Given the description of an element on the screen output the (x, y) to click on. 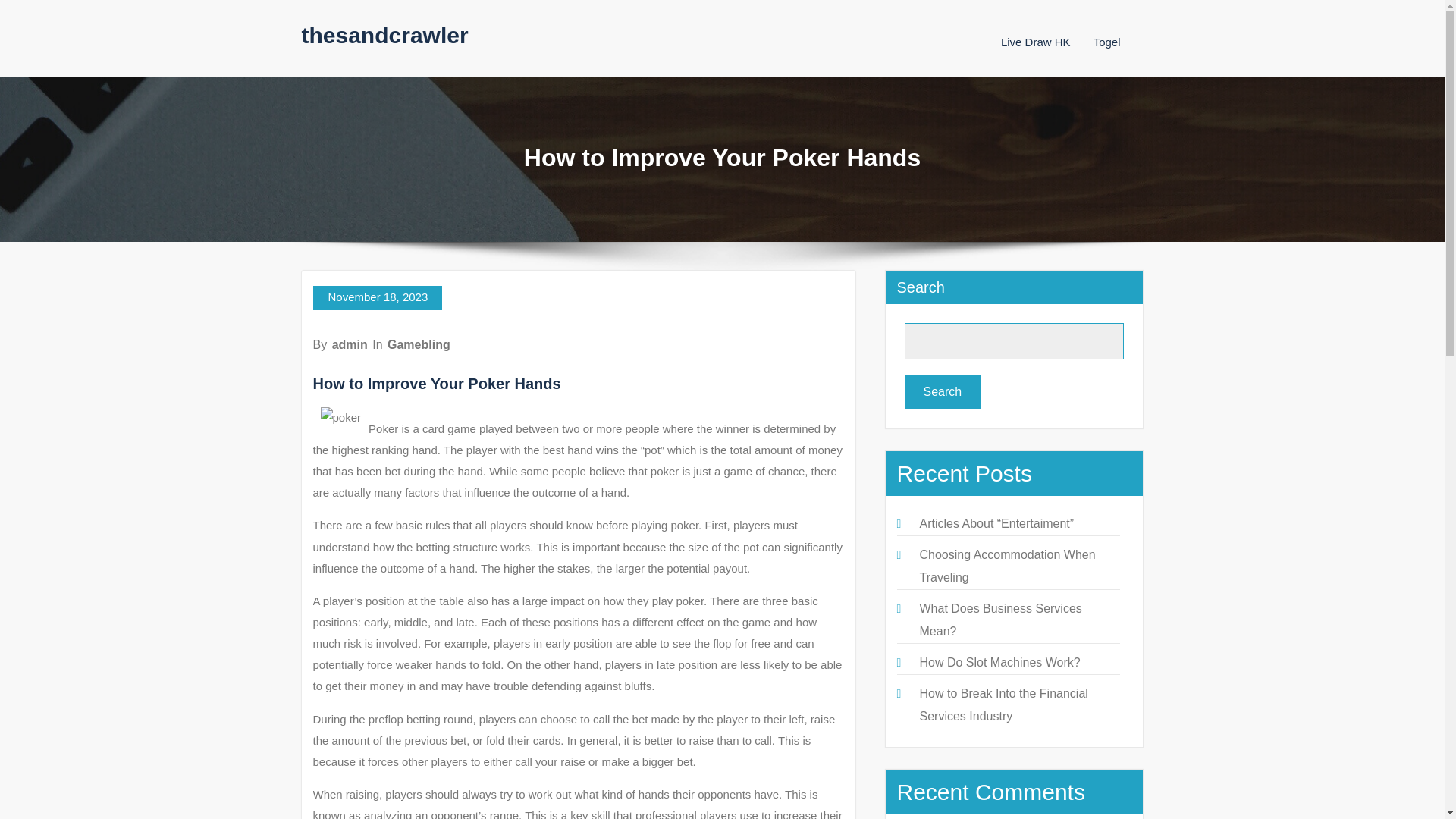
Search (941, 391)
Gamebling (418, 344)
How to Break Into the Financial Services Industry (1002, 704)
Live Draw HK (1035, 41)
What Does Business Services Mean? (999, 619)
Choosing Accommodation When Traveling (1006, 565)
November 18, 2023 (377, 297)
How Do Slot Machines Work? (999, 662)
admin (349, 344)
thesandcrawler (384, 34)
